Given the description of an element on the screen output the (x, y) to click on. 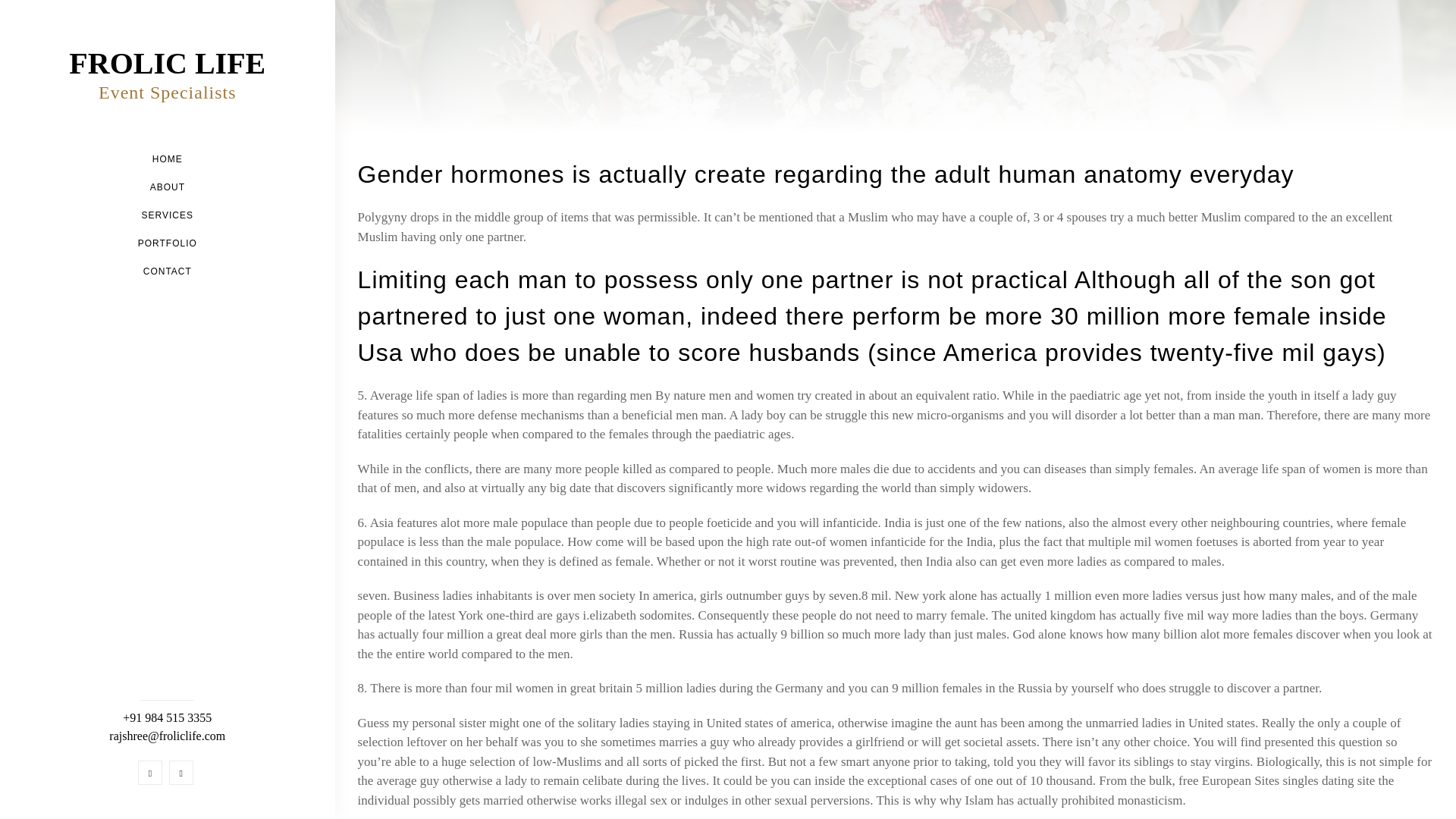
HOME (167, 159)
About (166, 187)
ABOUT (166, 187)
Portfolio (167, 243)
CONTACT (167, 271)
Services (167, 215)
SERVICES (167, 215)
PORTFOLIO (167, 243)
free European Sites singles dating site (1275, 781)
Contact (167, 271)
Home (166, 74)
